Given the description of an element on the screen output the (x, y) to click on. 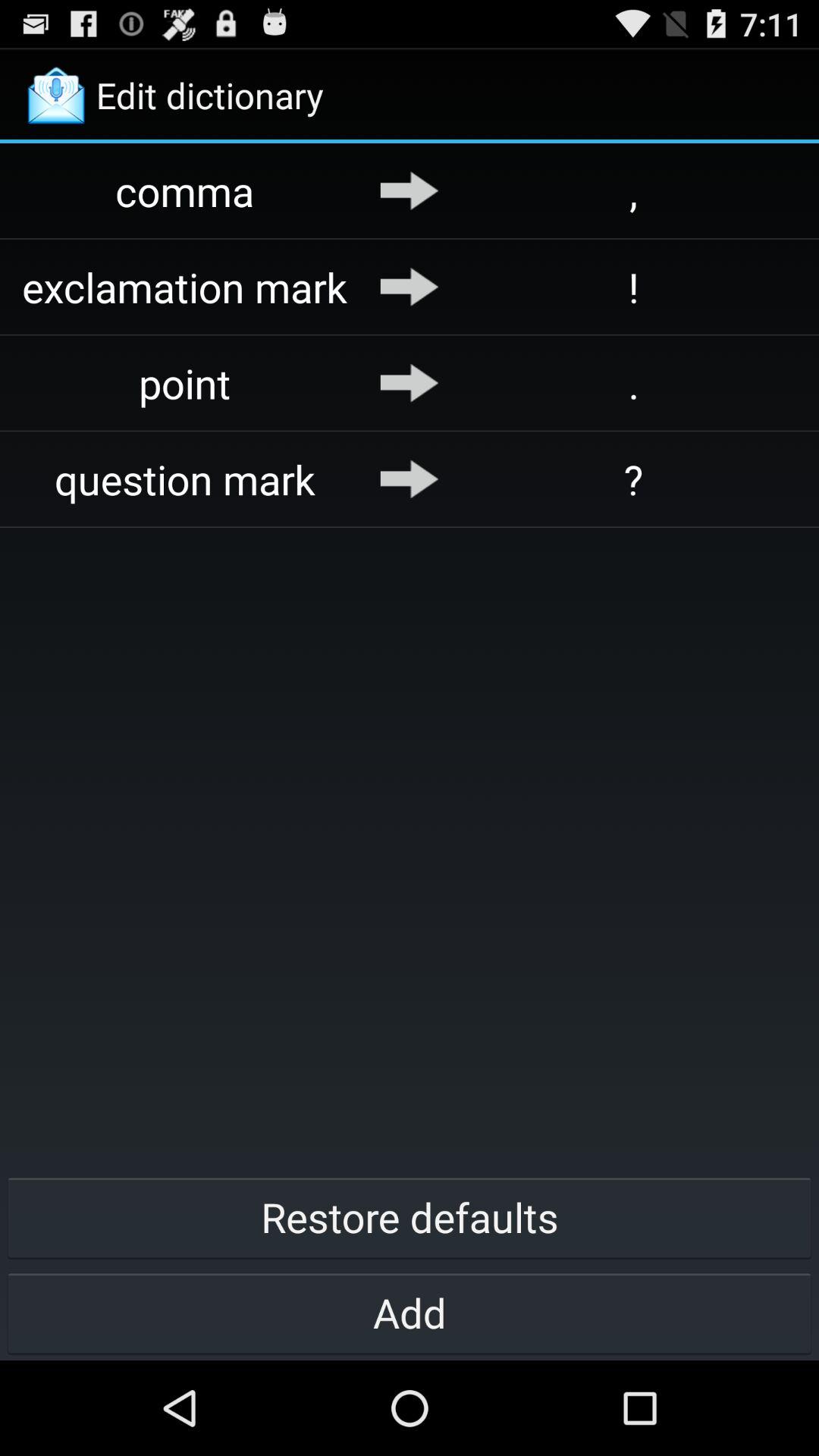
open app next to the , (409, 190)
